Given the description of an element on the screen output the (x, y) to click on. 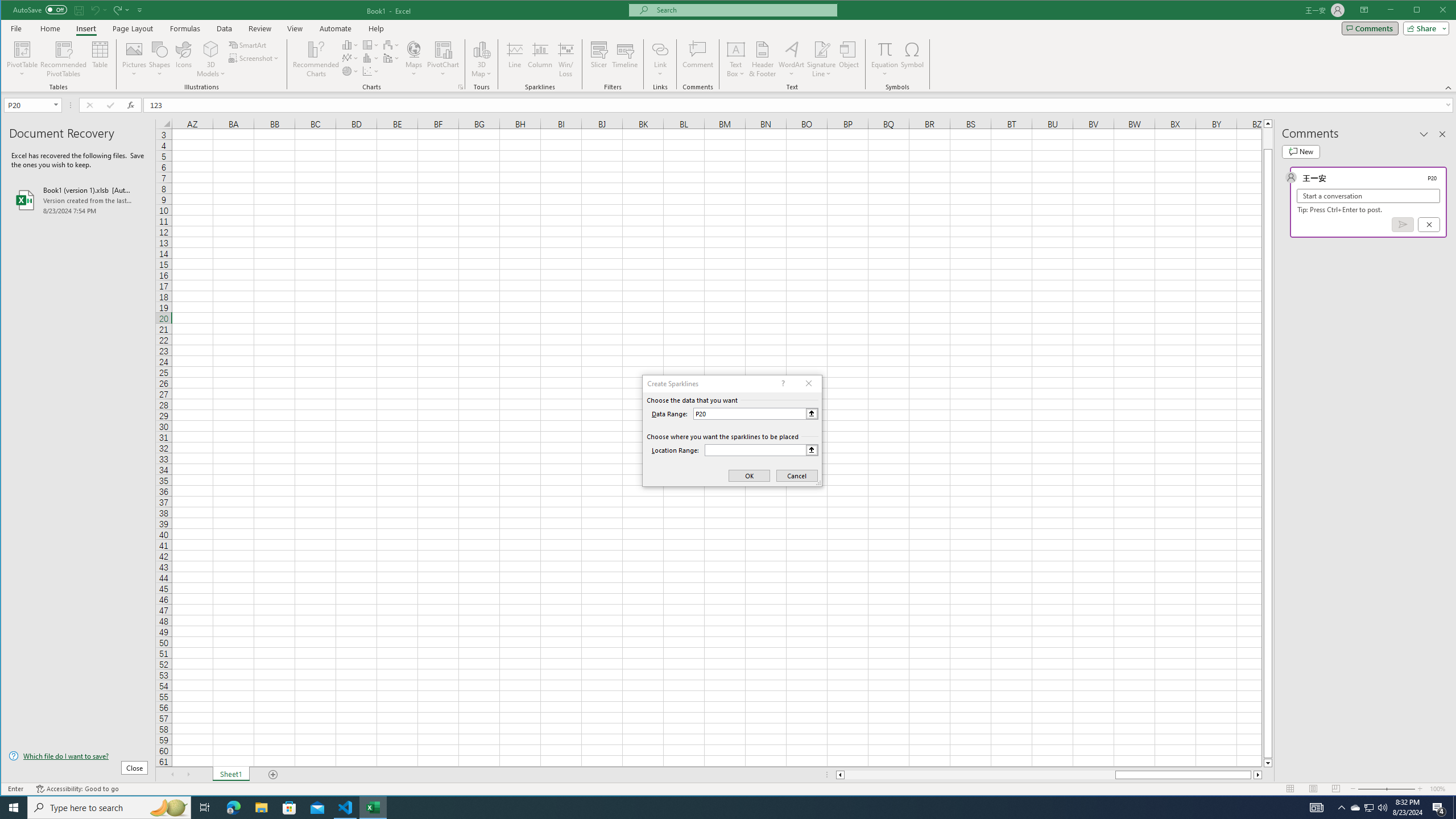
3D Map (481, 59)
Timeline (625, 59)
Insert Scatter (X, Y) or Bubble Chart (371, 70)
Object... (848, 59)
Header & Footer... (762, 59)
Comment (697, 59)
Insert Combo Chart (391, 57)
